Given the description of an element on the screen output the (x, y) to click on. 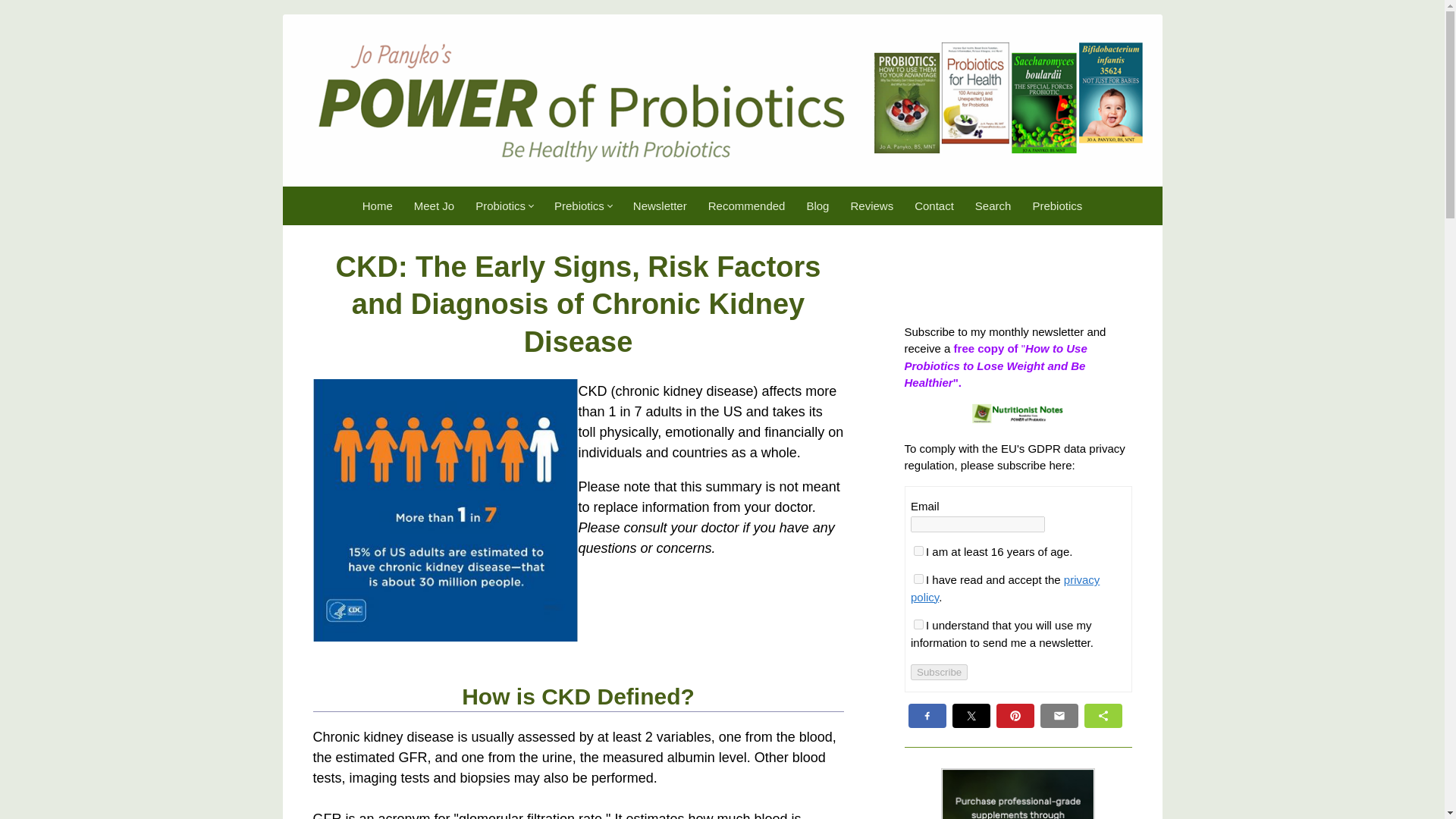
Prebiotics (1057, 205)
Meet Jo (433, 205)
Blog (817, 205)
Home (377, 205)
Search (992, 205)
privacy policy (1005, 588)
on (918, 624)
Newsletter (660, 205)
on (918, 551)
Reviews (872, 205)
Contact (933, 205)
Recommended (746, 205)
on (918, 578)
Subscribe (939, 672)
